Given the description of an element on the screen output the (x, y) to click on. 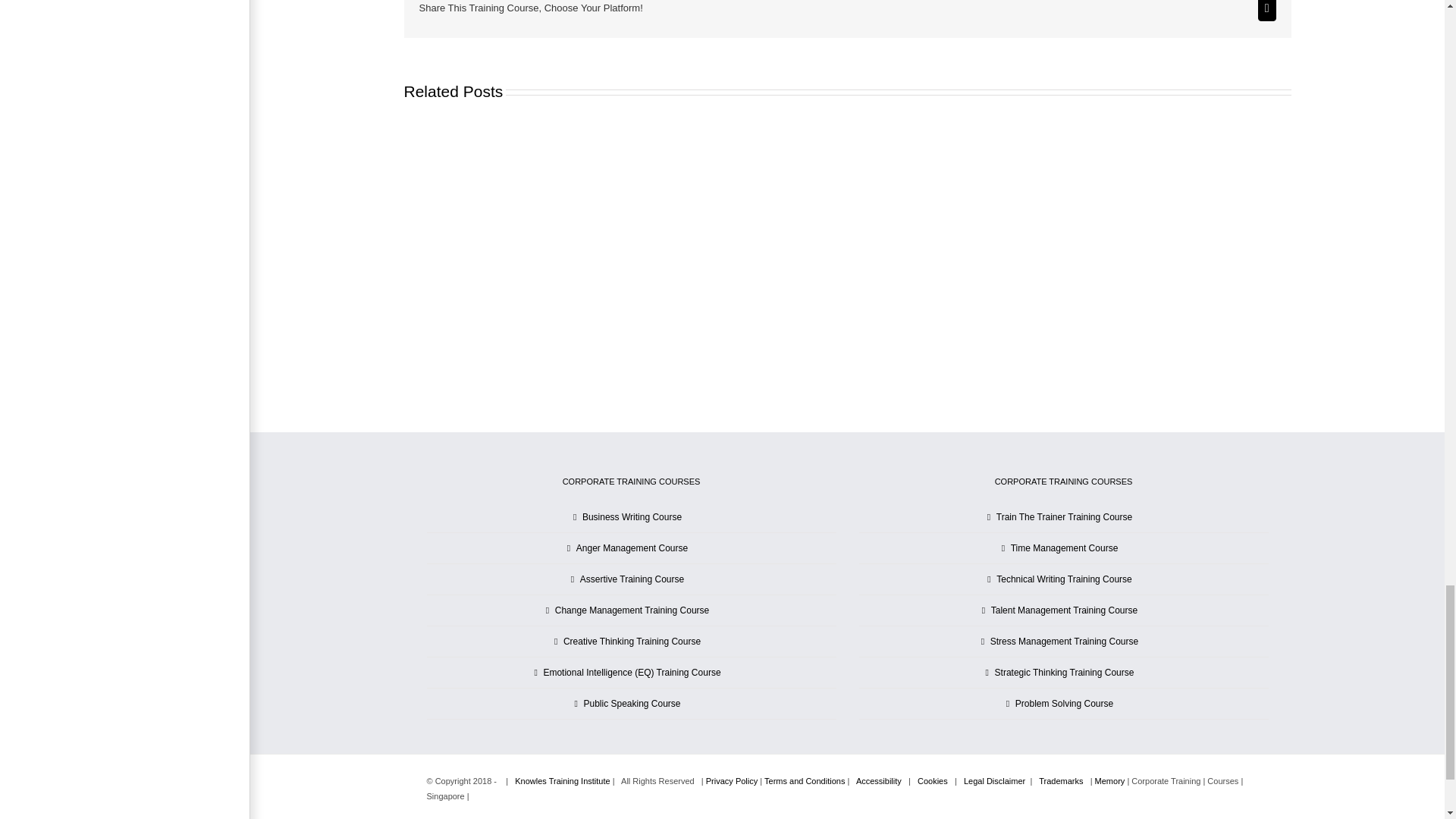
Assertive Training Course Singapore (631, 579)
Train The Trainer Training Course Singapore (1063, 516)
Change Management Training Course Singapore (631, 610)
Anger Management Courses (631, 548)
Business Writing Course Singapore (631, 516)
Creative Thinking Training Course Singapore (631, 641)
